Given the description of an element on the screen output the (x, y) to click on. 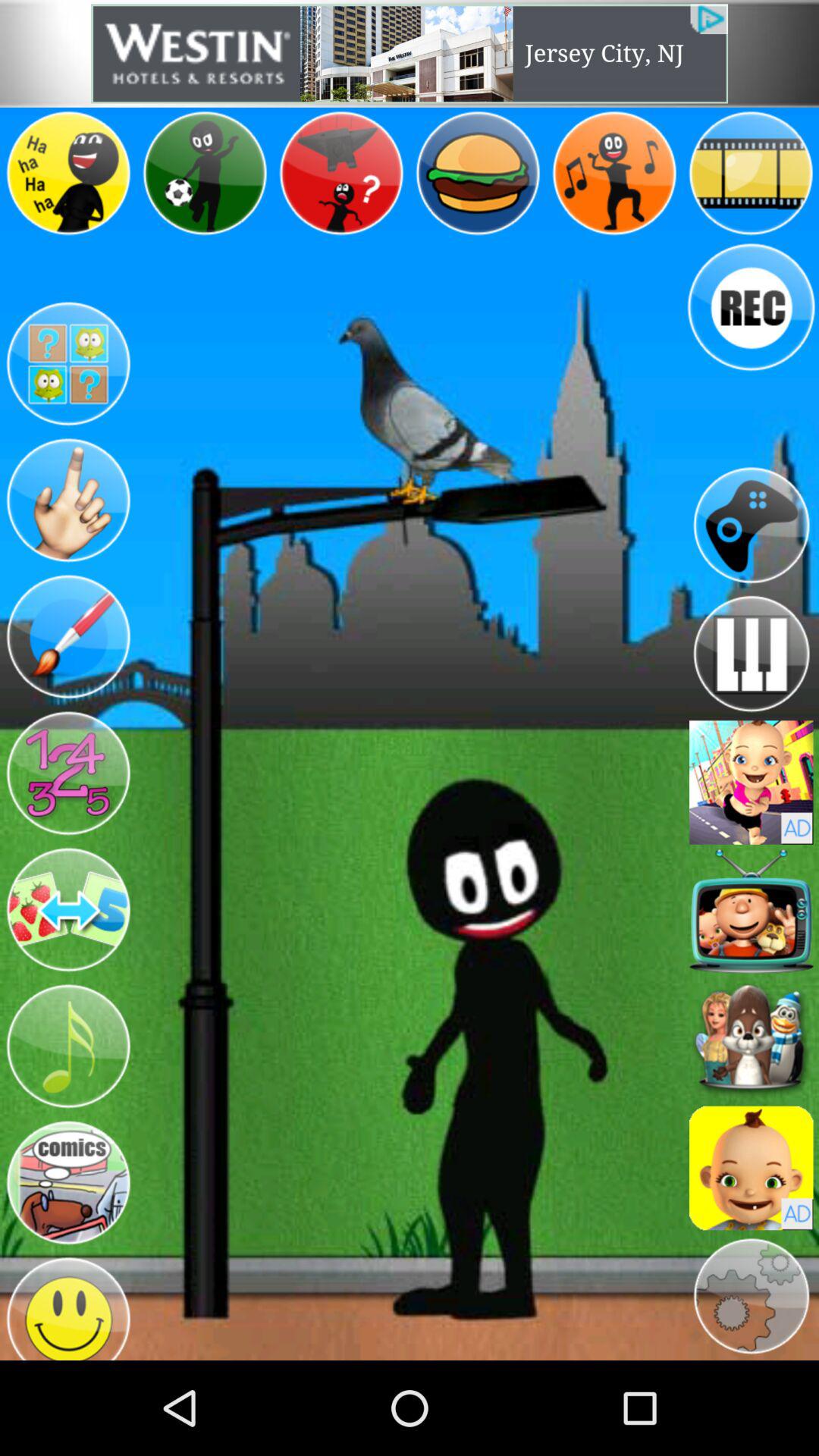
gaming buttons (68, 773)
